Given the description of an element on the screen output the (x, y) to click on. 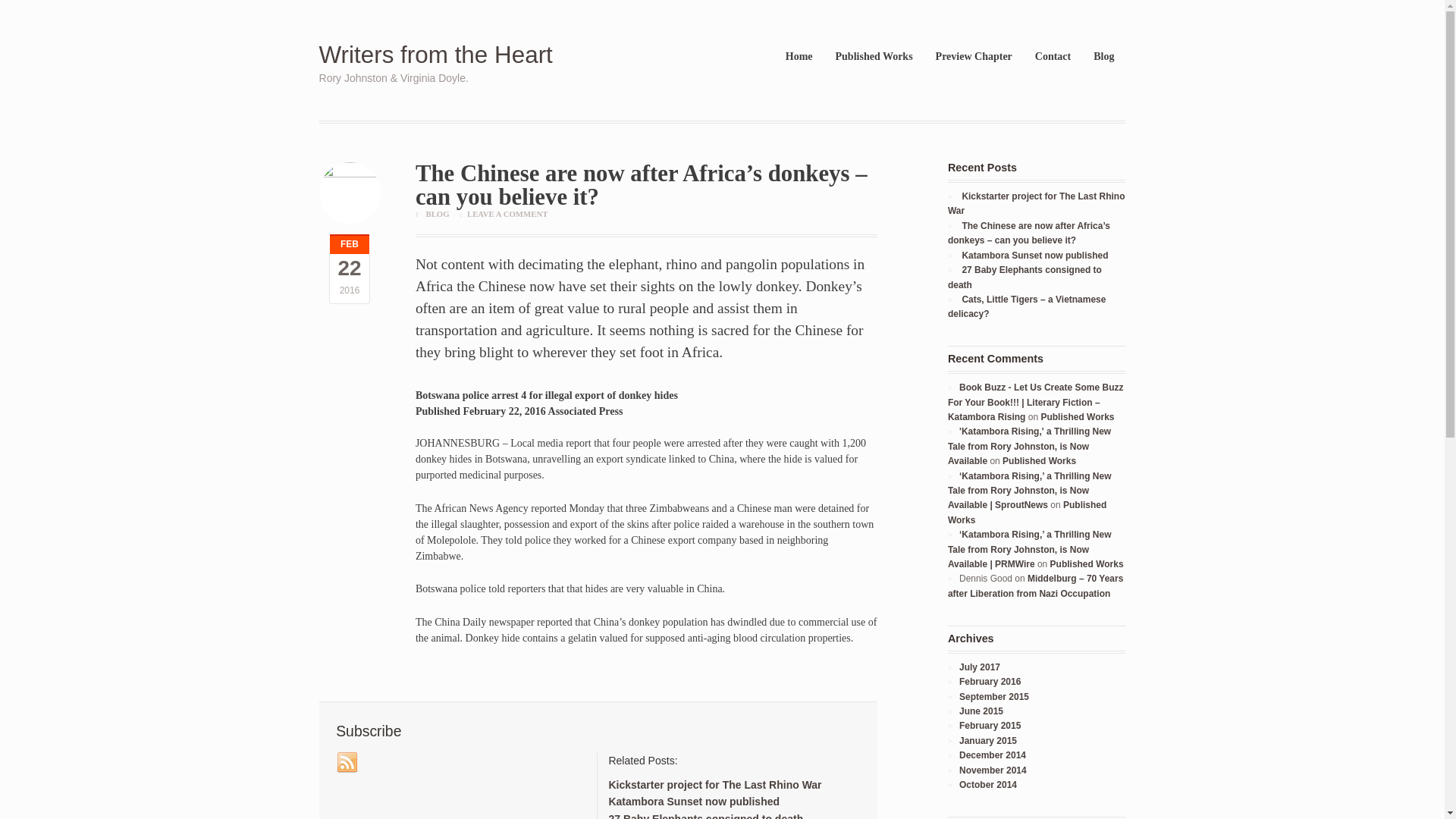
RSS (347, 762)
Kickstarter project for The Last Rhino War (714, 784)
Writers from the Heart (435, 54)
27 Baby Elephants consigned to death (1024, 276)
Published Works (874, 55)
Katambora Sunset now published (1034, 255)
January 2015 (987, 740)
LEAVE A COMMENT (507, 213)
Published Works (1026, 511)
September 2015 (994, 696)
